Given the description of an element on the screen output the (x, y) to click on. 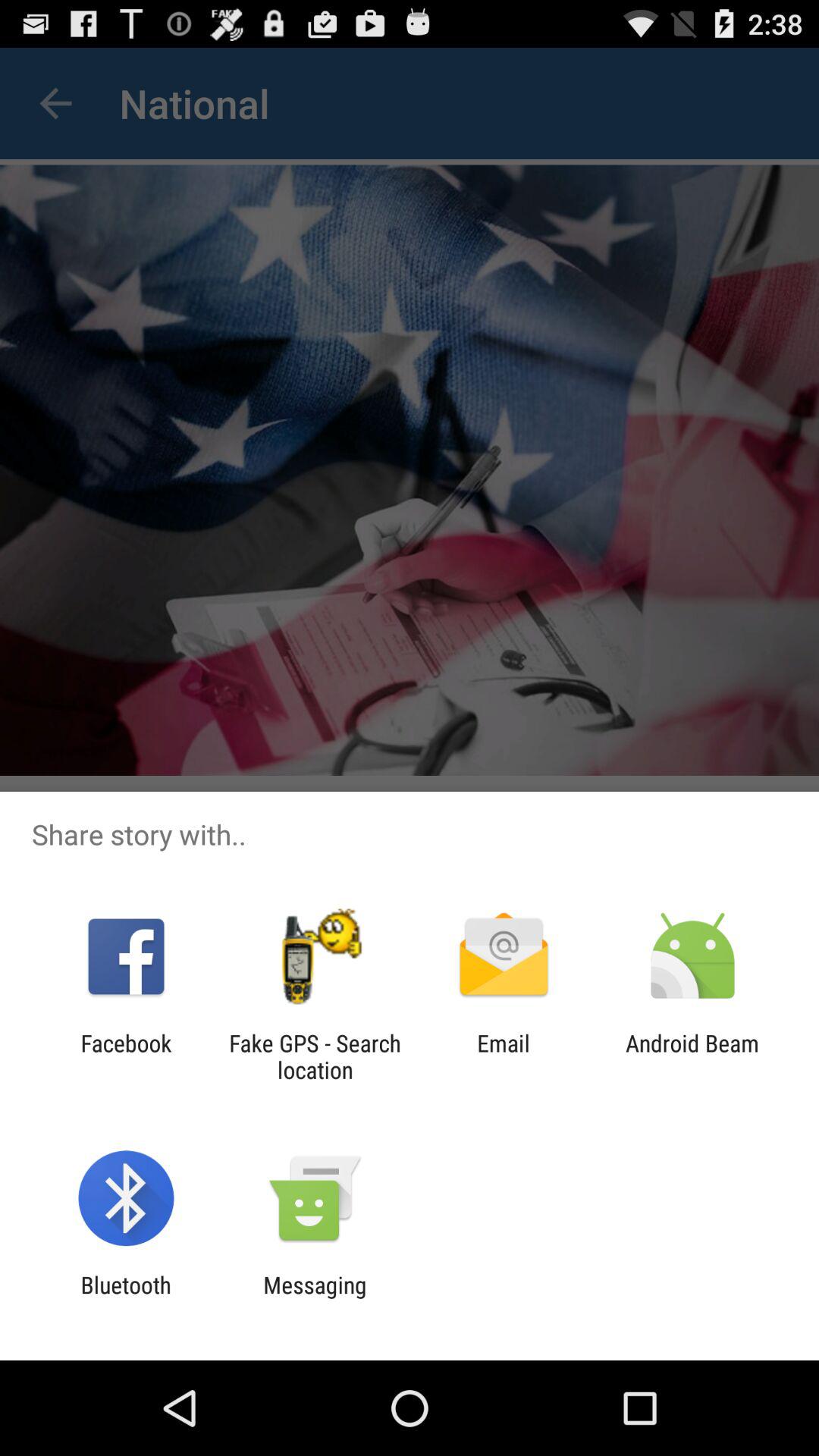
launch the android beam (692, 1056)
